Given the description of an element on the screen output the (x, y) to click on. 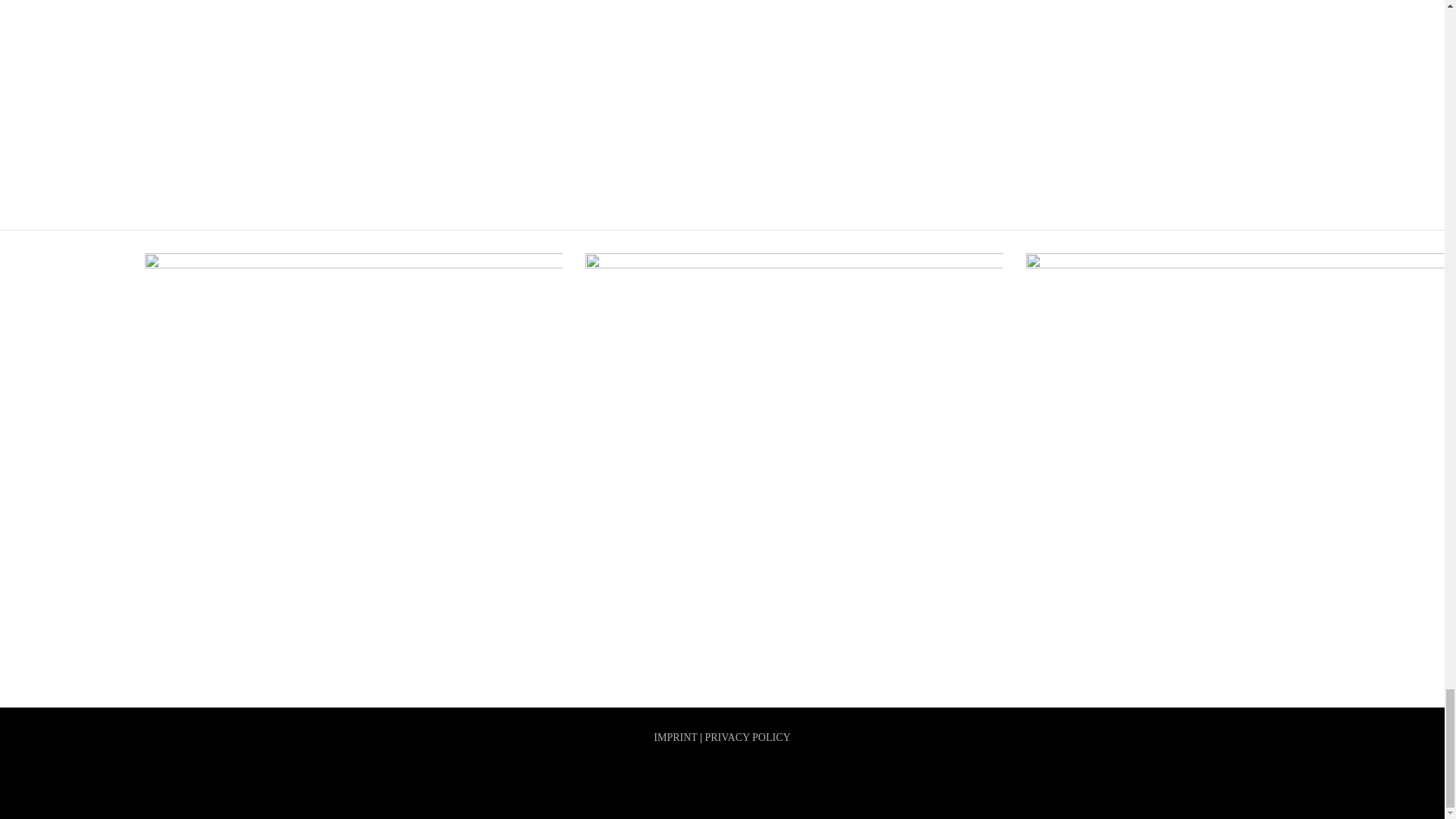
PRIVACY POLICY (747, 737)
IMPRINT (675, 737)
The Reflex RevisionSoul searching you can dance to (794, 365)
The Reflex RevisionSoul searching you can dance to (780, 515)
